Given the description of an element on the screen output the (x, y) to click on. 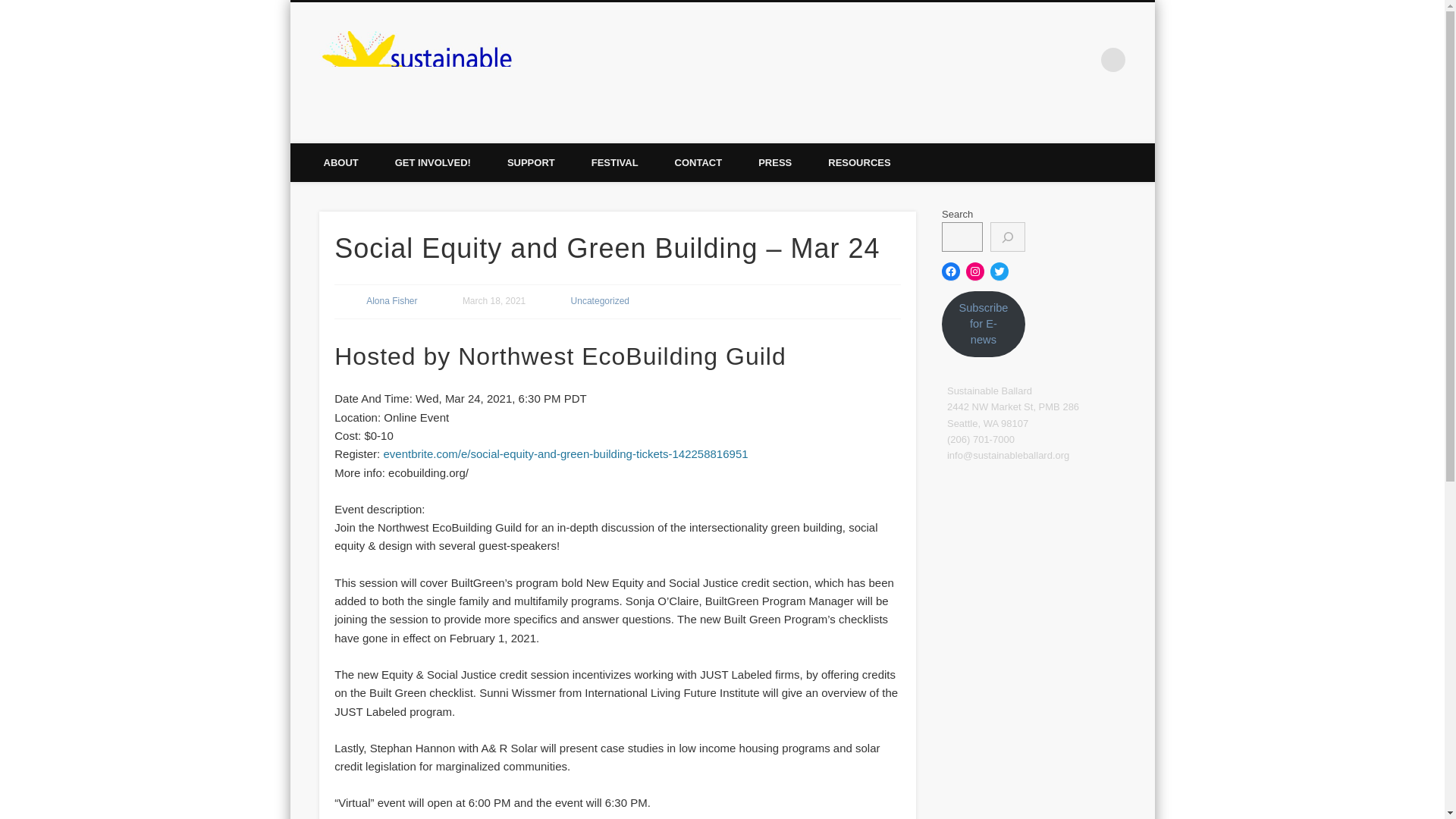
Pinterest (1050, 59)
GET INVOLVED! (433, 162)
In the news (774, 162)
ABOUT (339, 162)
sustainable BALLARD (878, 59)
Tools and tips (858, 162)
FESTIVAL (614, 162)
Learn more (339, 162)
Join us Sept 28! (614, 162)
Our activities (433, 162)
SUPPORT (531, 162)
Flickr (1082, 59)
Posts by Alona Fisher (391, 300)
Search (11, 7)
Twitter (1018, 59)
